Given the description of an element on the screen output the (x, y) to click on. 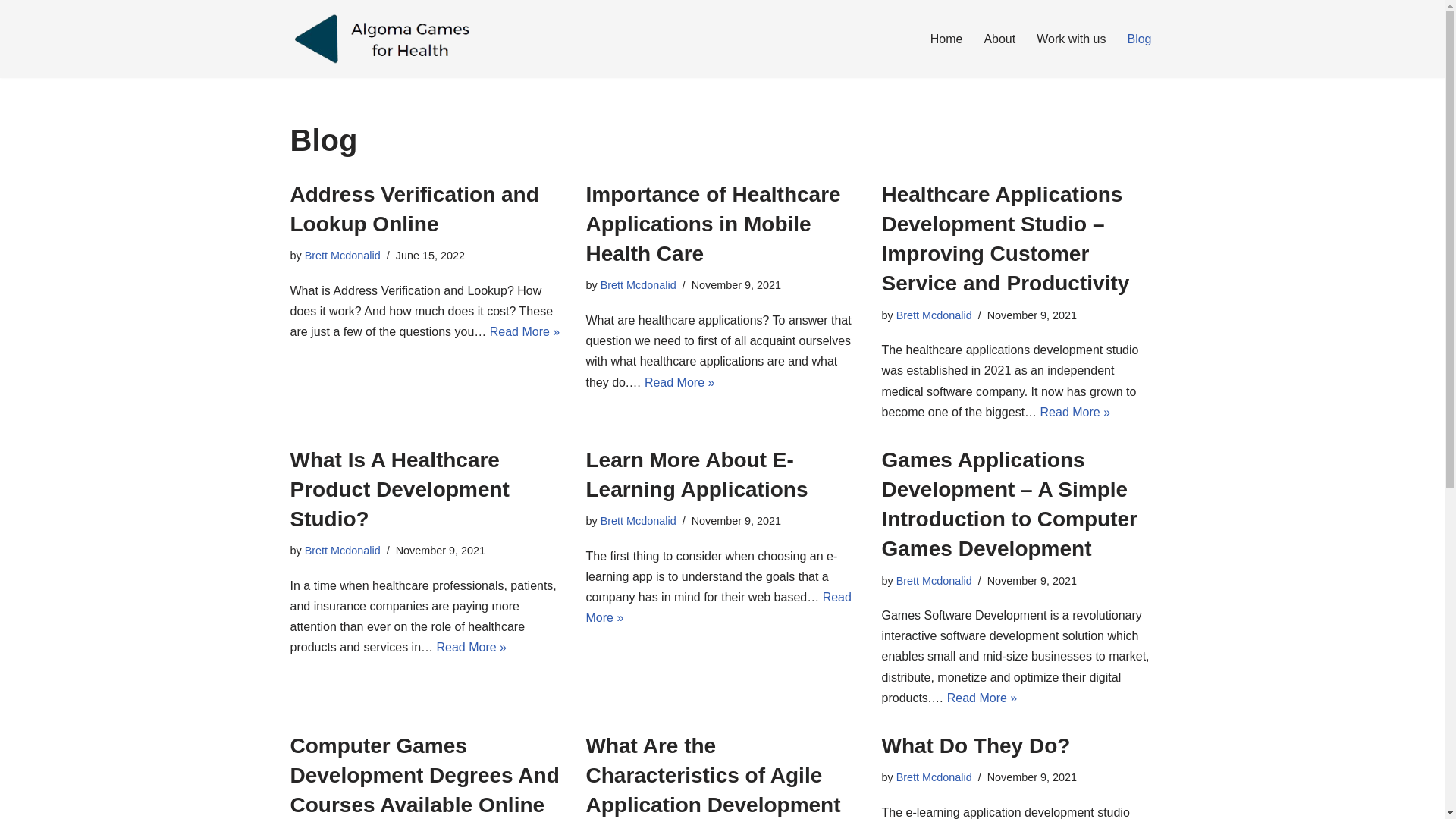
Learn More About E-Learning Applications Element type: text (696, 474)
Brett Mcdonalid Element type: text (342, 550)
Address Verification and Lookup Online Element type: text (413, 208)
Brett Mcdonalid Element type: text (638, 285)
What Is A Healthcare Product Development Studio? Element type: text (398, 489)
Home Element type: text (946, 38)
Brett Mcdonalid Element type: text (934, 580)
About Element type: text (999, 38)
Brett Mcdonalid Element type: text (638, 520)
Importance of Healthcare Applications in Mobile Health Care Element type: text (712, 223)
Blog Element type: text (1138, 38)
Skip to content Element type: text (11, 31)
What Do They Do? Element type: text (975, 745)
Brett Mcdonalid Element type: text (934, 777)
Brett Mcdonalid Element type: text (342, 255)
Work with us Element type: text (1070, 38)
Brett Mcdonalid Element type: text (934, 315)
